Given the description of an element on the screen output the (x, y) to click on. 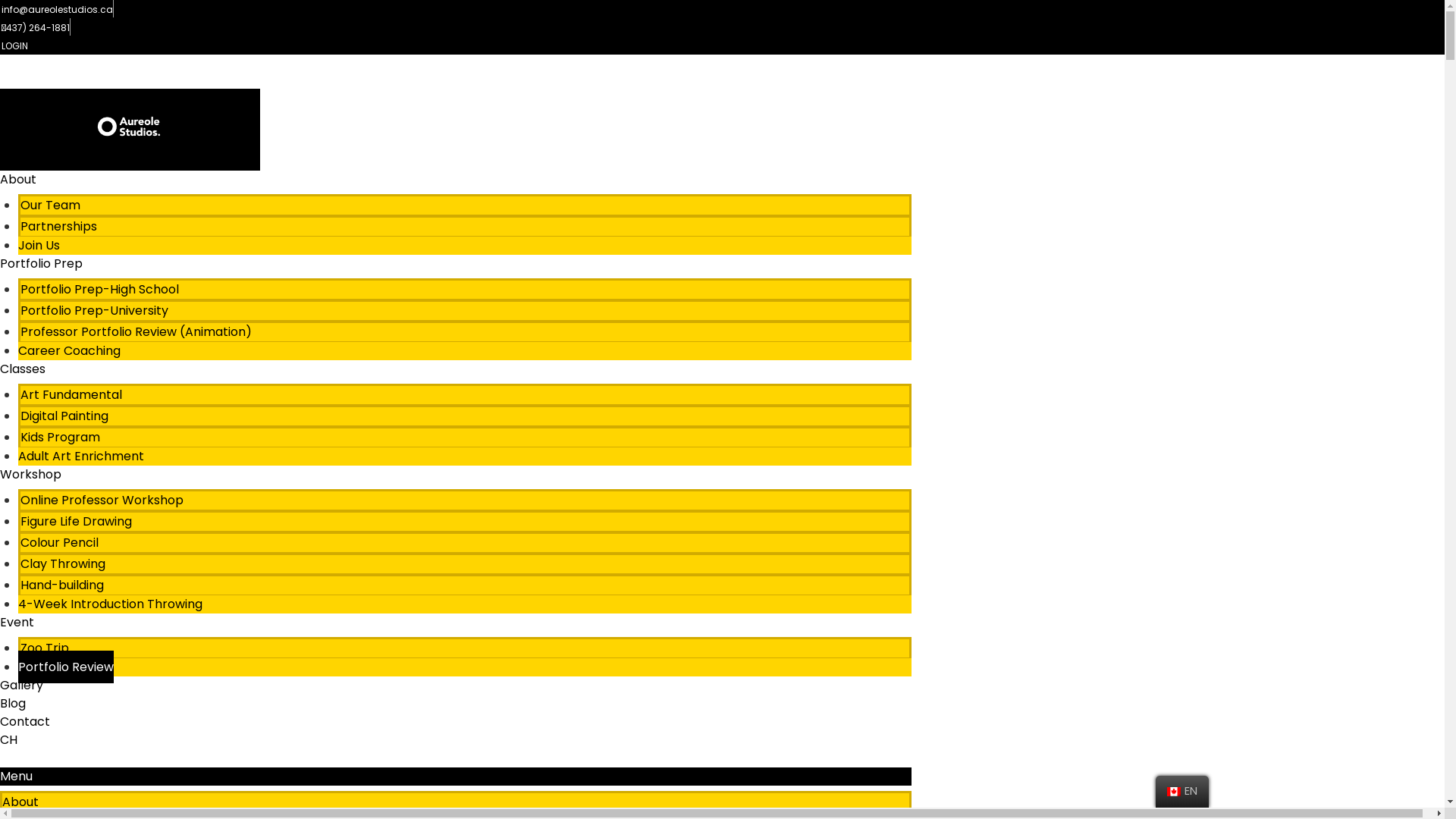
info@aureolestudios.ca Element type: text (56, 9)
Zoo Trip Element type: text (44, 647)
Workshop Element type: text (30, 474)
About Element type: text (18, 179)
Contact Element type: text (25, 721)
Career Coaching Element type: text (69, 350)
English Element type: hover (1173, 791)
Our Team Element type: text (50, 204)
Portfolio Prep-High School Element type: text (99, 289)
Professor Portfolio Review (Animation) Element type: text (135, 331)
EN Element type: text (1181, 791)
Kids Program Element type: text (60, 436)
Portfolio Review Element type: text (65, 666)
Colour Pencil Element type: text (59, 542)
Digital Painting Element type: text (64, 415)
Join Us Element type: text (38, 245)
Blog Element type: text (12, 703)
Figure Life Drawing Element type: text (75, 521)
Portfolio Prep Element type: text (41, 263)
Partnerships Element type: text (58, 226)
Clay Throwing Element type: text (62, 563)
Hand-building Element type: text (61, 584)
About Element type: text (20, 801)
Portfolio Prep-University Element type: text (94, 310)
Classes Element type: text (22, 368)
Online Professor Workshop Element type: text (101, 499)
Art Fundamental Element type: text (71, 394)
Gallery Element type: text (21, 684)
4-Week Introduction Throwing Element type: text (110, 603)
CH Element type: text (8, 739)
Event Element type: text (17, 621)
LOGIN Element type: text (14, 45)
Adult Art Enrichment Element type: text (81, 455)
